Given the description of an element on the screen output the (x, y) to click on. 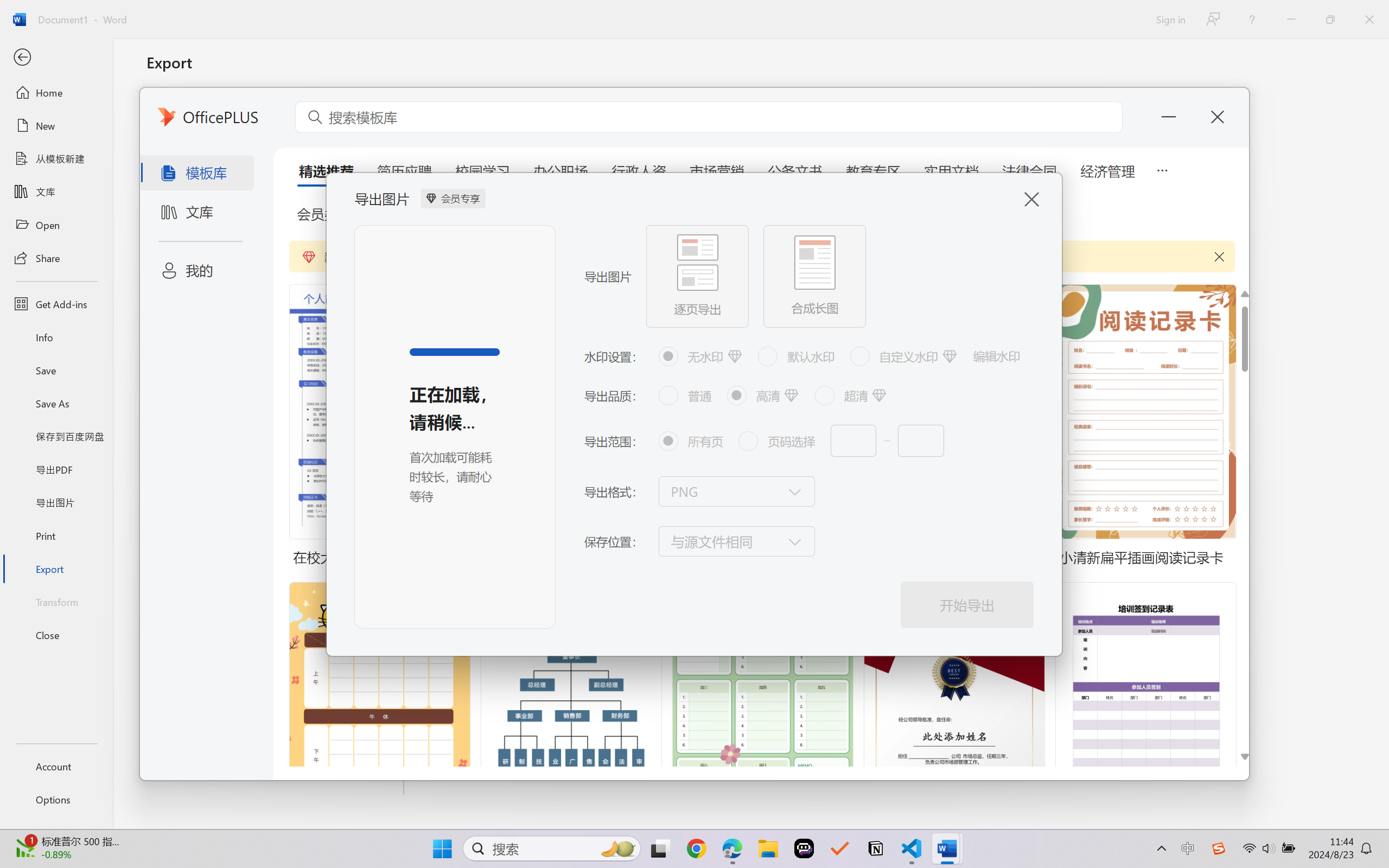
New (56, 125)
